Given the description of an element on the screen output the (x, y) to click on. 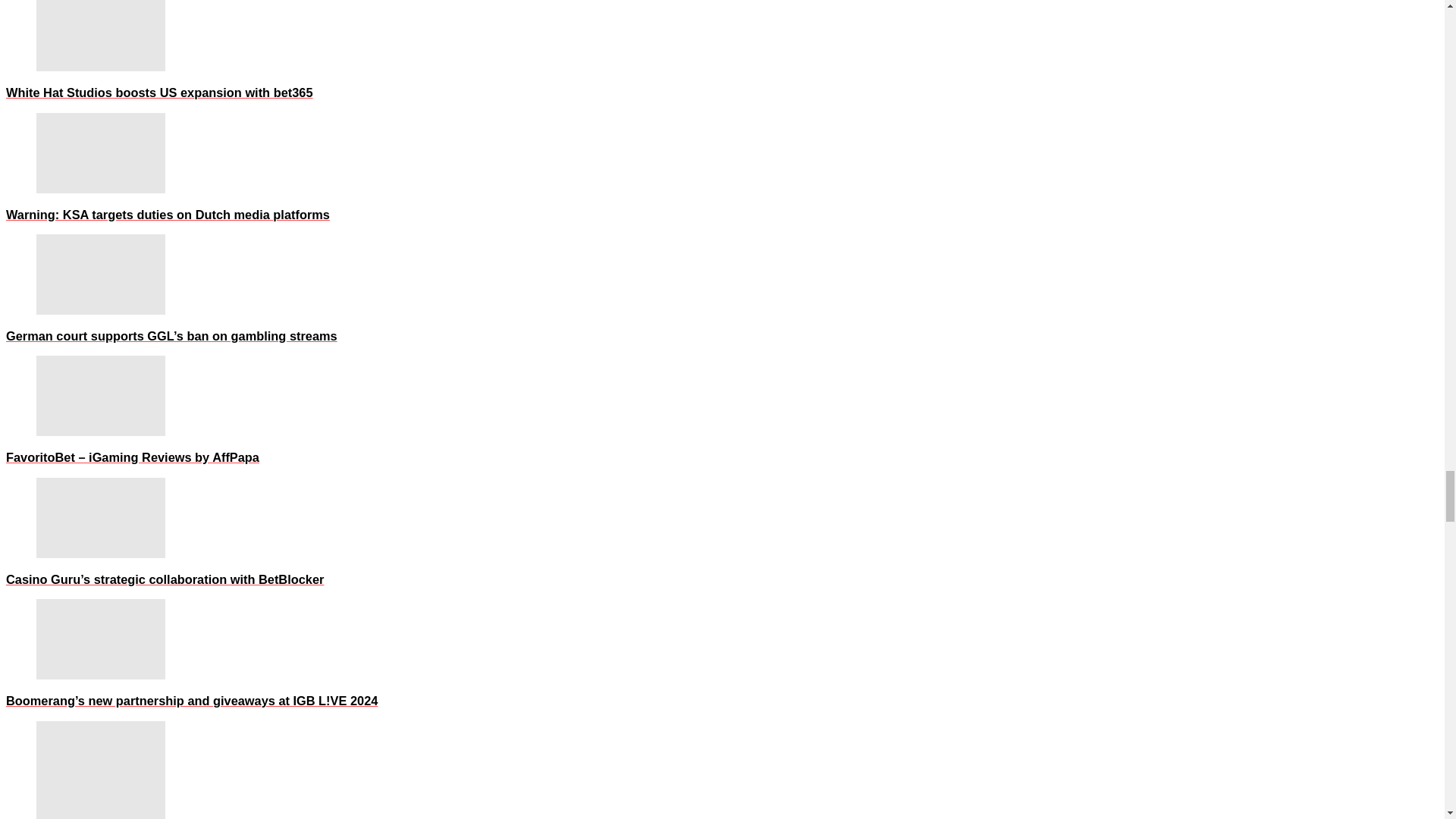
White Hat Studios boosts US expansion with bet365 (100, 35)
